Given the description of an element on the screen output the (x, y) to click on. 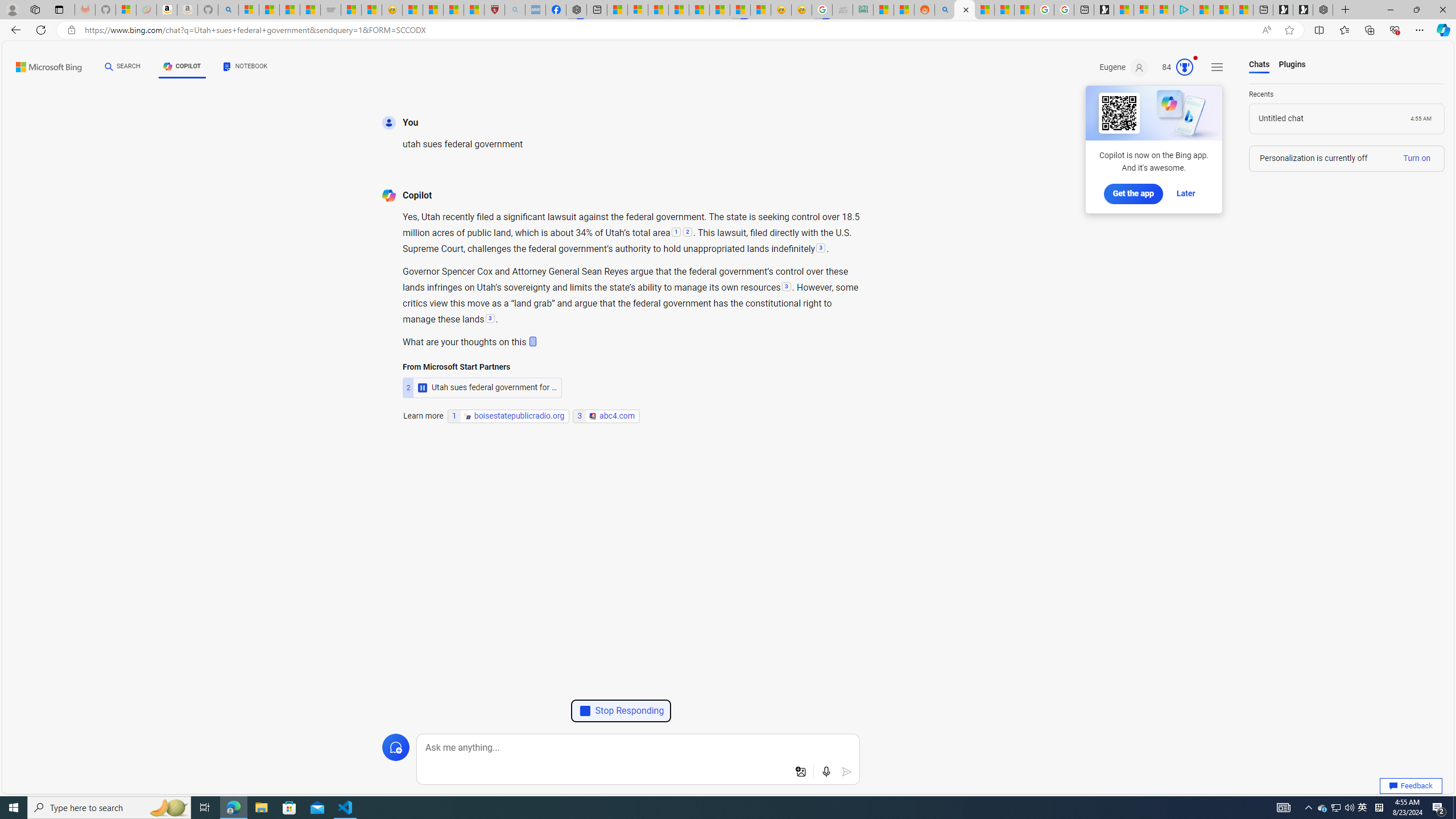
Animation (1195, 57)
New topic (395, 746)
SEARCH (122, 66)
Settings and quick links (1217, 67)
